Given the description of an element on the screen output the (x, y) to click on. 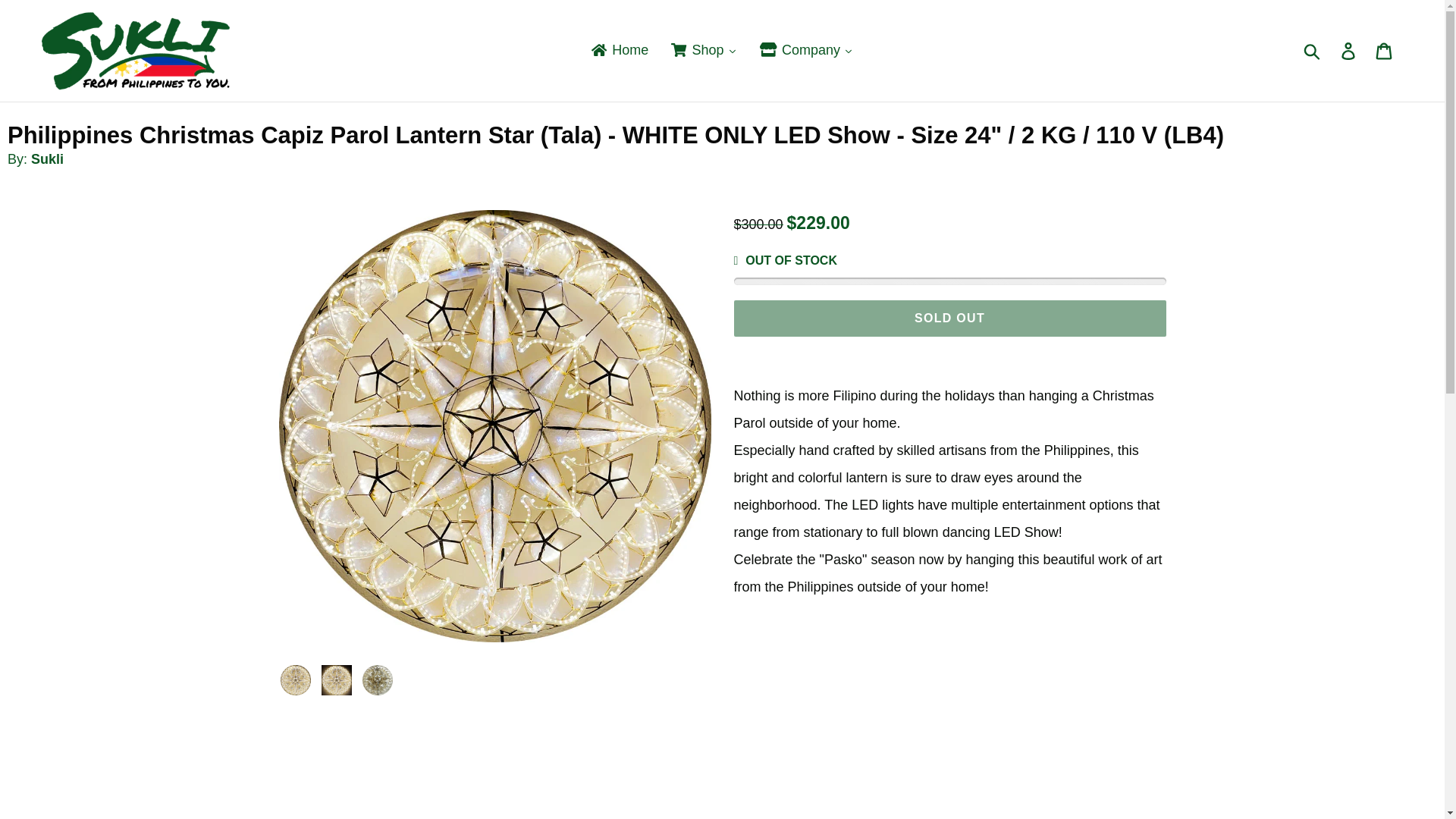
YouTube video player (852, 709)
Shop (703, 50)
Cart (1385, 50)
SOLD OUT (949, 318)
Company (806, 50)
Sukli (47, 159)
Home (619, 50)
Company (806, 50)
Shop (703, 50)
Submit (1313, 50)
Home (619, 50)
